Given the description of an element on the screen output the (x, y) to click on. 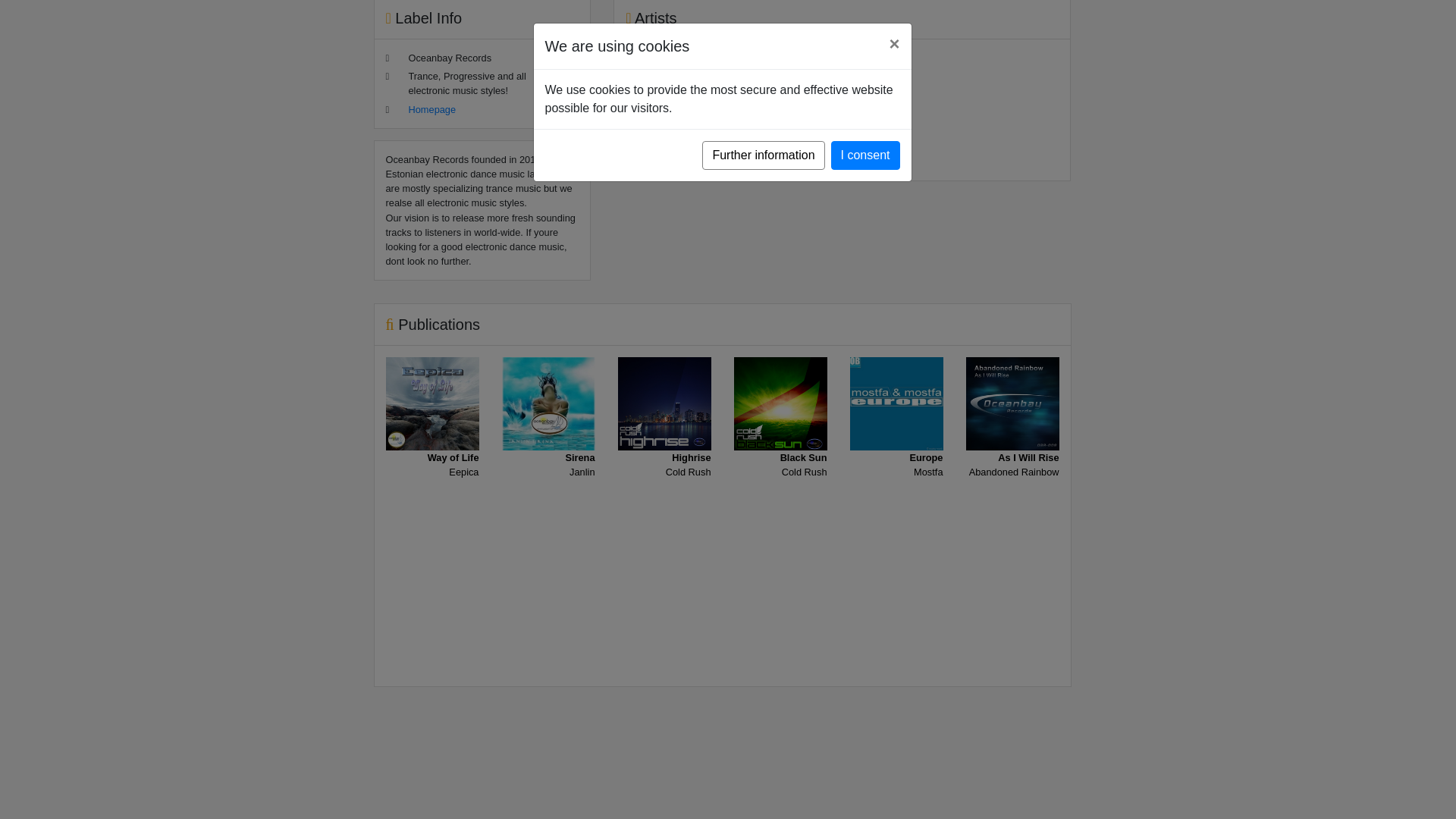
Homepage (548, 437)
